Given the description of an element on the screen output the (x, y) to click on. 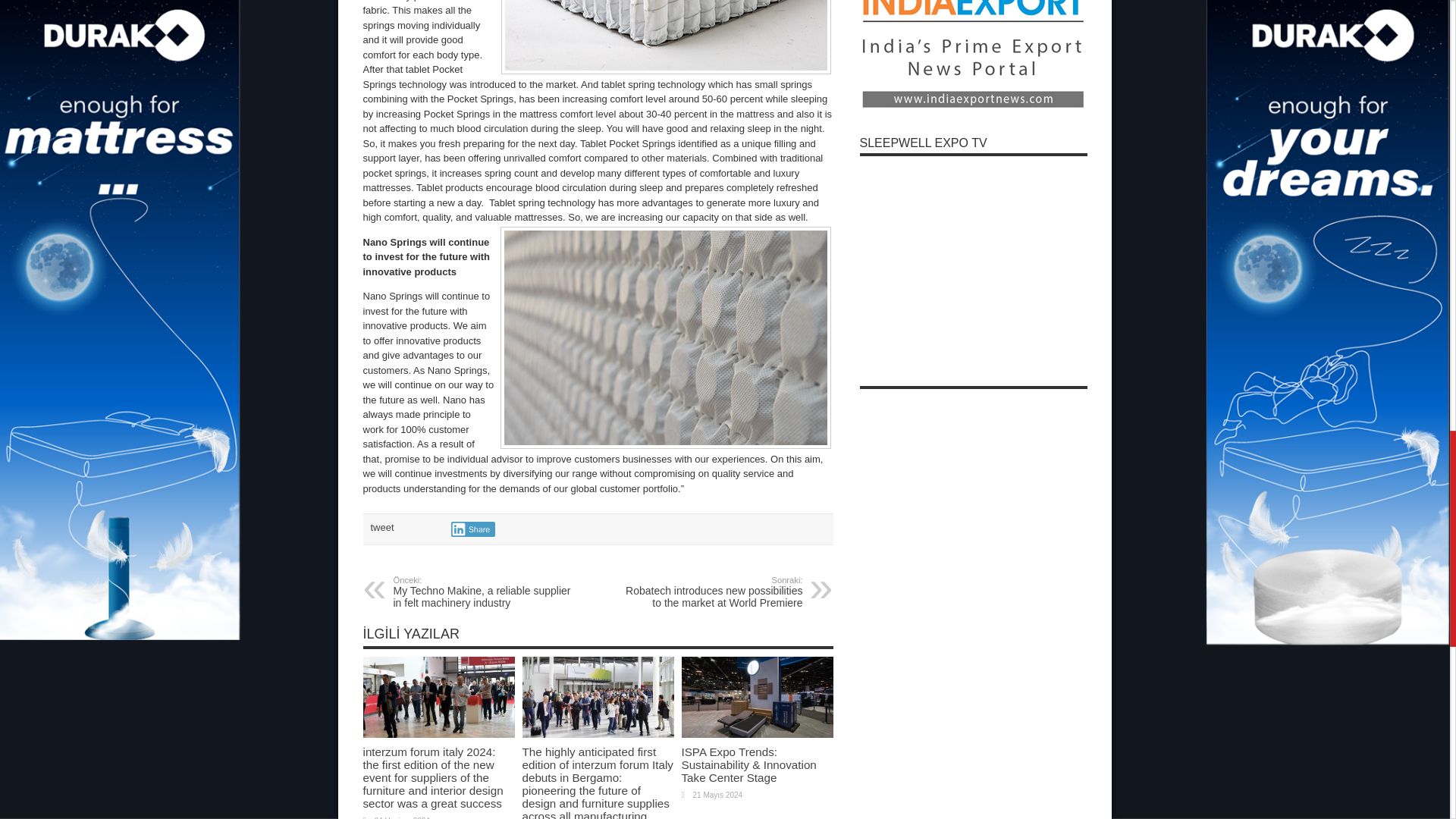
tweet (381, 527)
Share (472, 529)
